Given the description of an element on the screen output the (x, y) to click on. 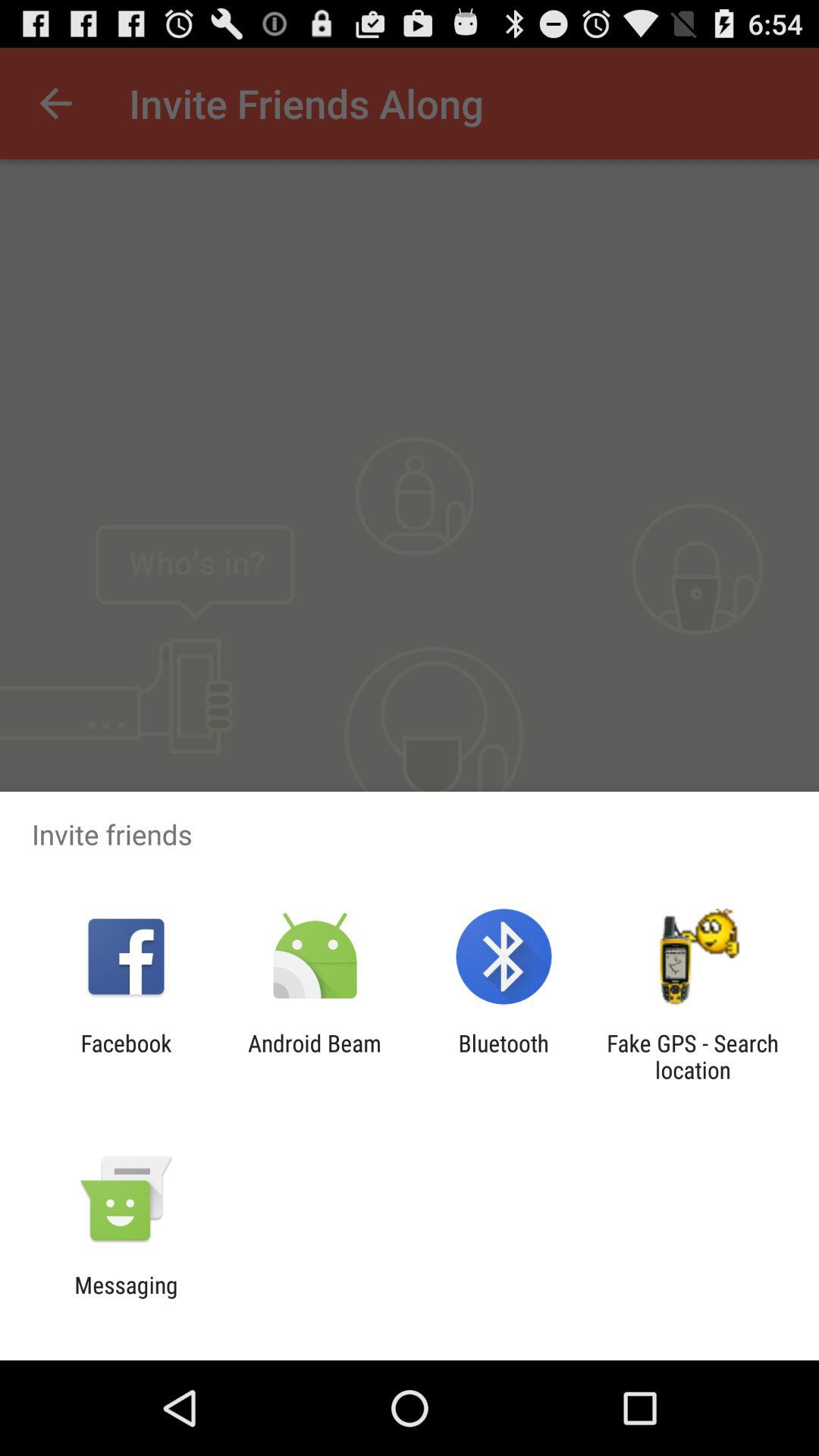
click facebook item (125, 1056)
